Given the description of an element on the screen output the (x, y) to click on. 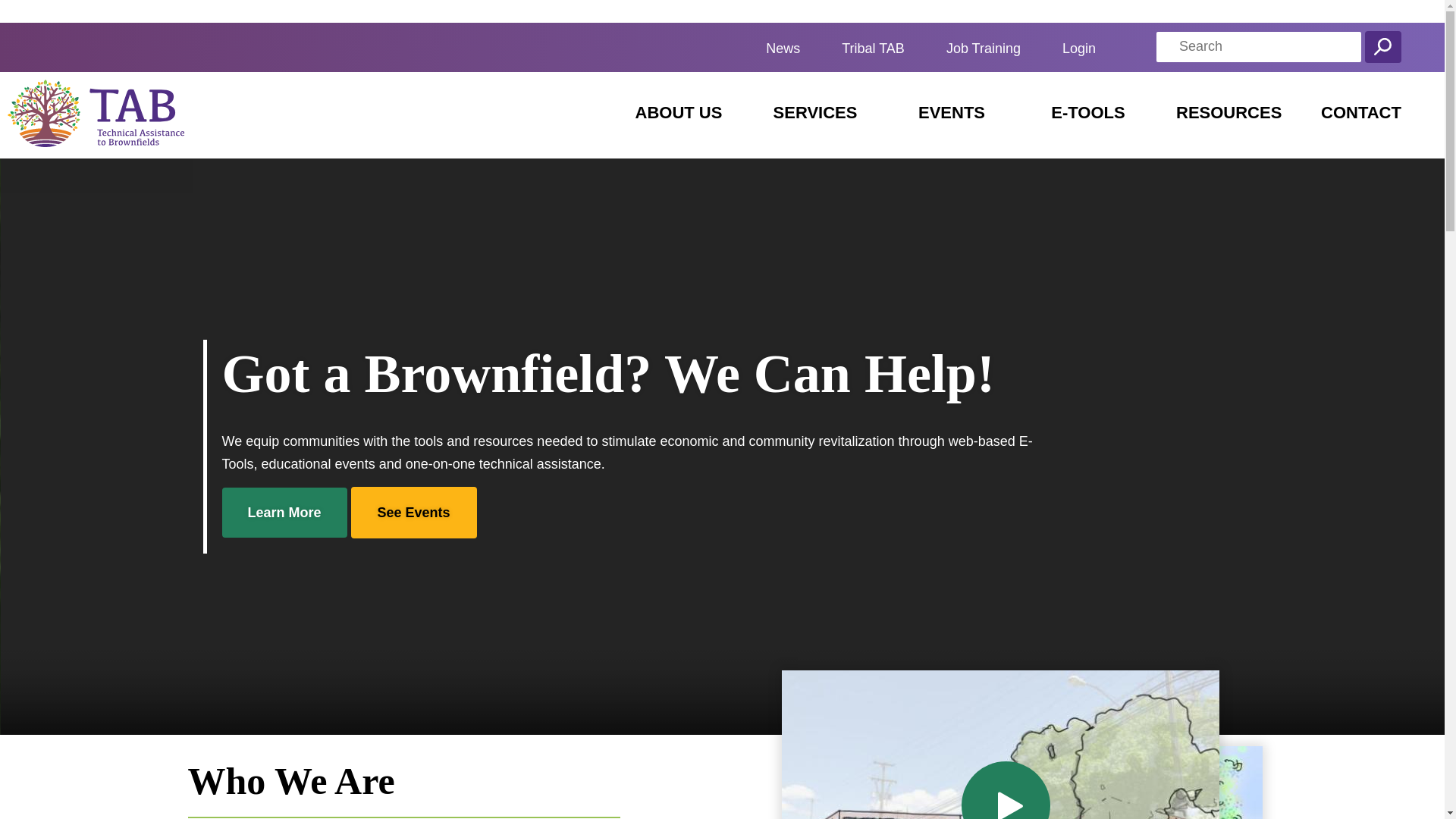
EVENTS (951, 112)
News (782, 48)
Enter the terms you wish to search for. (1258, 46)
E-TOOLS (1087, 112)
Login (1079, 48)
Learn More (283, 512)
See Events (413, 512)
Got a Brownfield? We Can Help! (607, 373)
Tribal TAB (872, 48)
CONTACT (1361, 112)
ABOUT US (678, 112)
RESOURCES (1228, 112)
Job Training (983, 48)
